Given the description of an element on the screen output the (x, y) to click on. 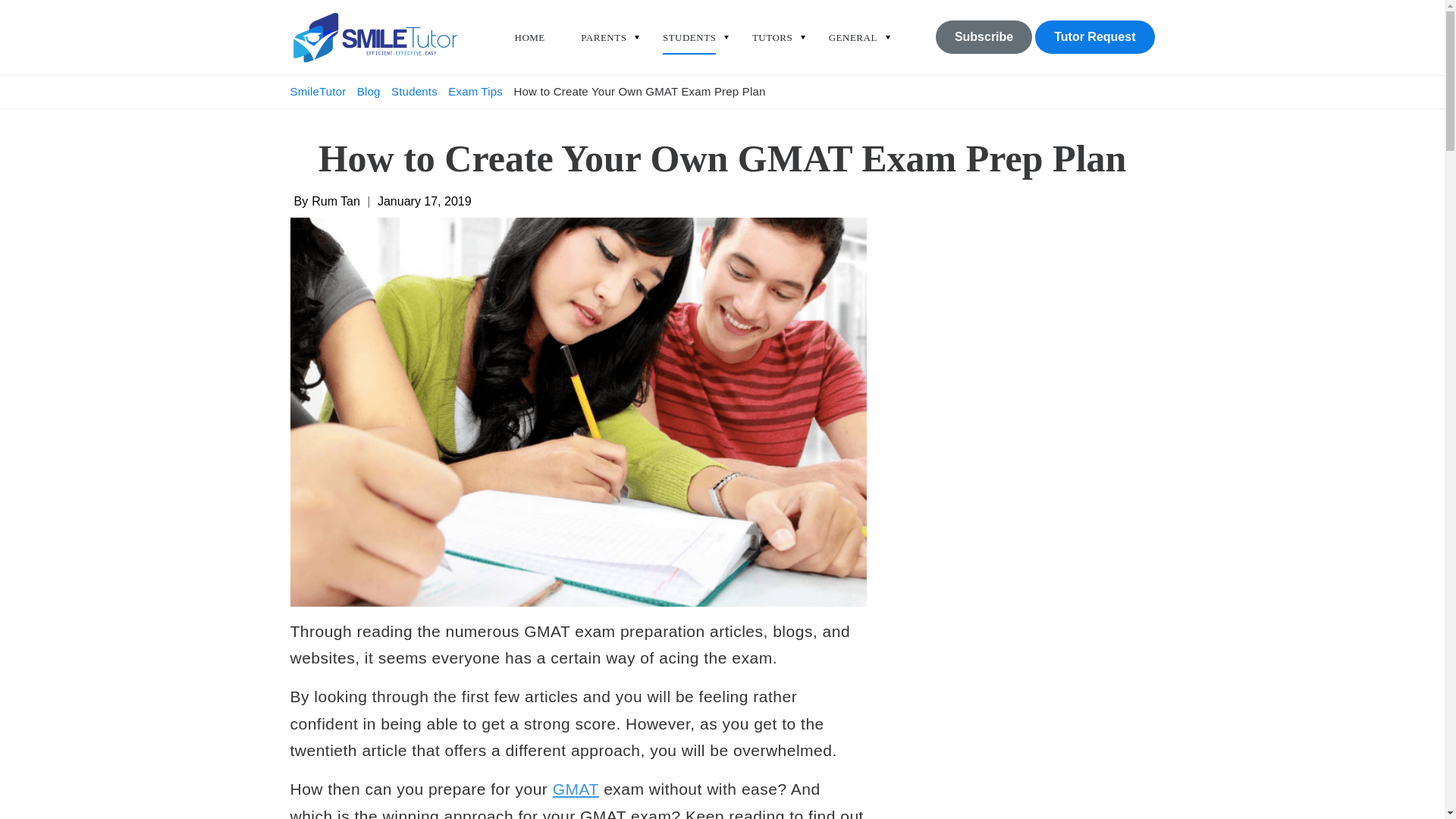
STUDENTS (689, 42)
Go to the Students category archives. (414, 91)
Go to SmileTutor. (319, 91)
PARENTS (603, 42)
Go to the Exam Tips category archives. (475, 91)
HOME (529, 42)
TUTORS (772, 42)
Go to SmileTutor. (366, 91)
GENERAL (852, 42)
